Given the description of an element on the screen output the (x, y) to click on. 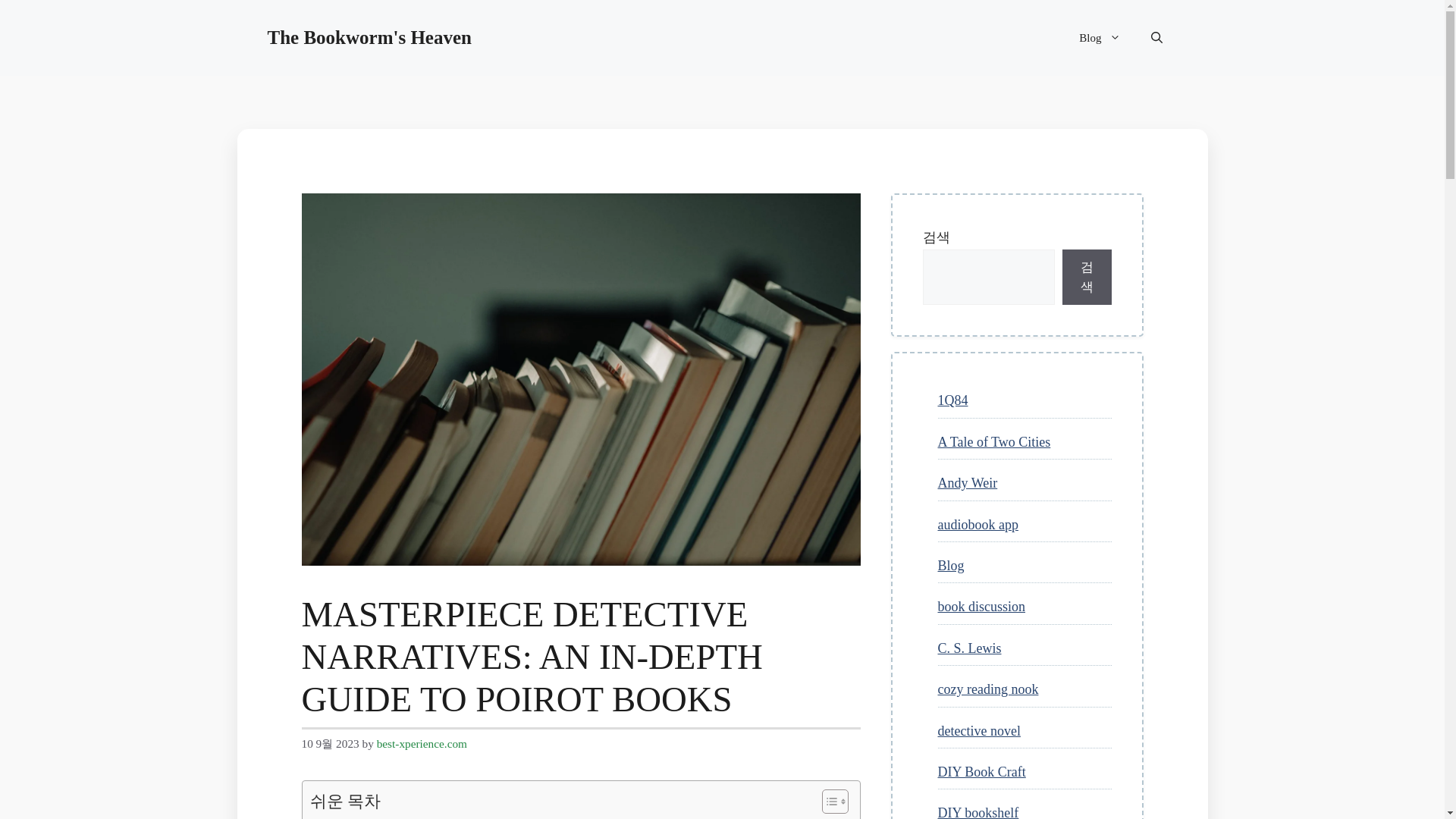
Blog (950, 565)
best-xperience.com (422, 743)
View all posts by best-xperience.com (422, 743)
C. S. Lewis (969, 648)
1Q84 (952, 400)
Andy Weir (967, 482)
Blog (1099, 37)
detective novel (978, 730)
The Bookworm's Heaven (368, 37)
book discussion (981, 606)
